Given the description of an element on the screen output the (x, y) to click on. 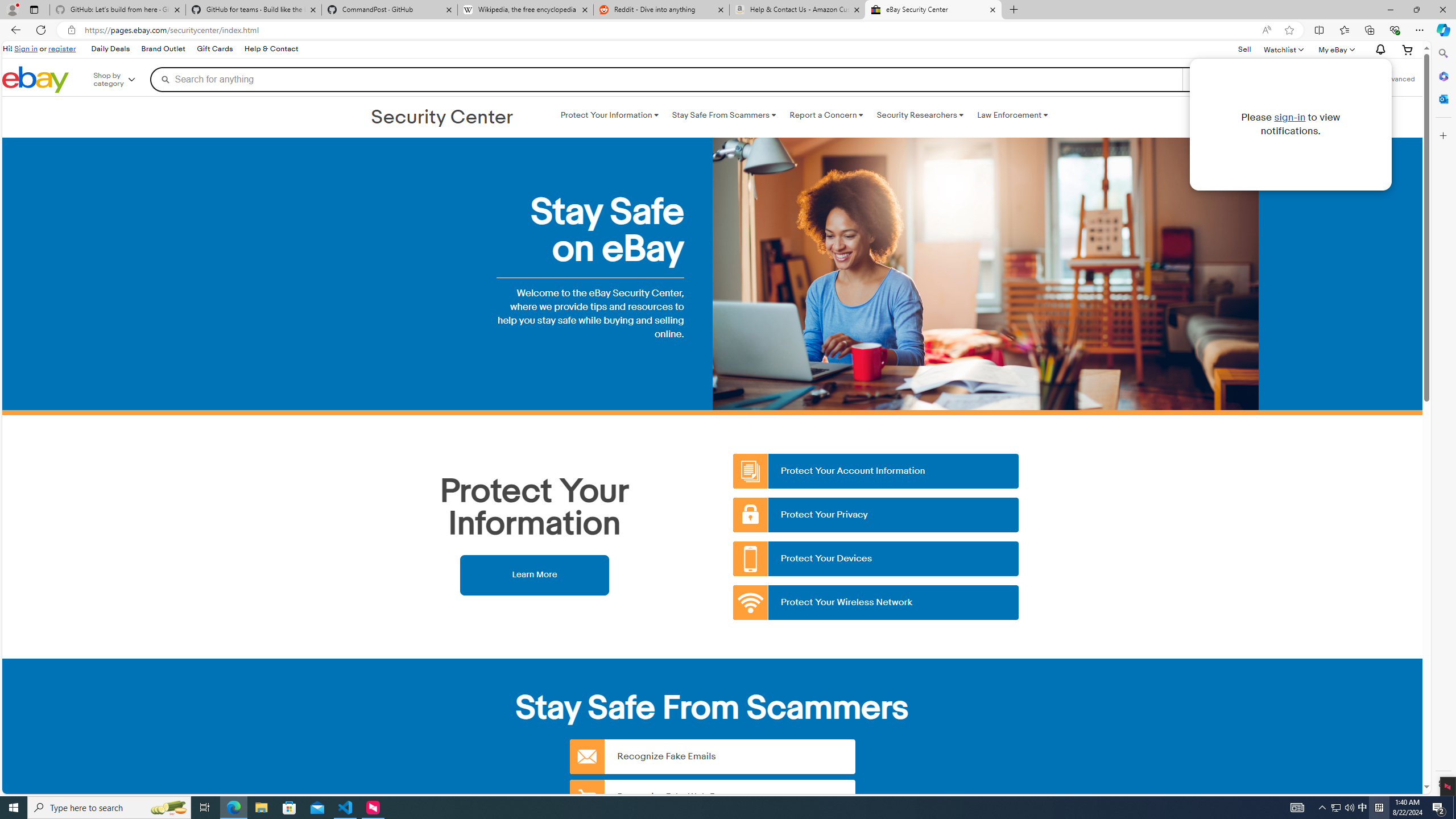
Law Enforcement  (1012, 115)
Brand Outlet (162, 49)
Protect Your Account Information (876, 470)
Brand Outlet (163, 49)
Report a Concern  (826, 115)
